Given the description of an element on the screen output the (x, y) to click on. 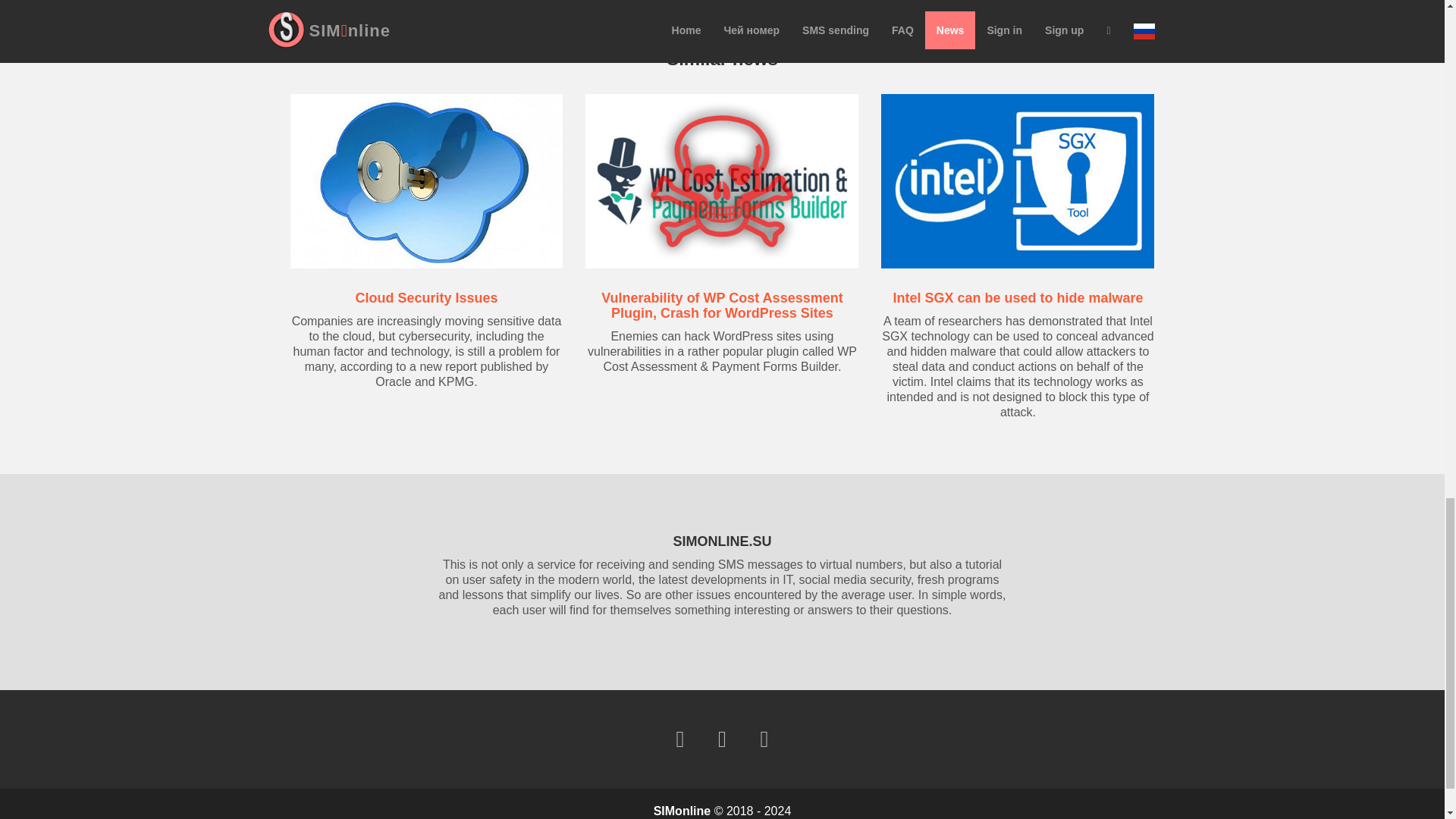
Intel SGX can be used to hide malware (1017, 297)
Cloud Security Issues (426, 297)
